Given the description of an element on the screen output the (x, y) to click on. 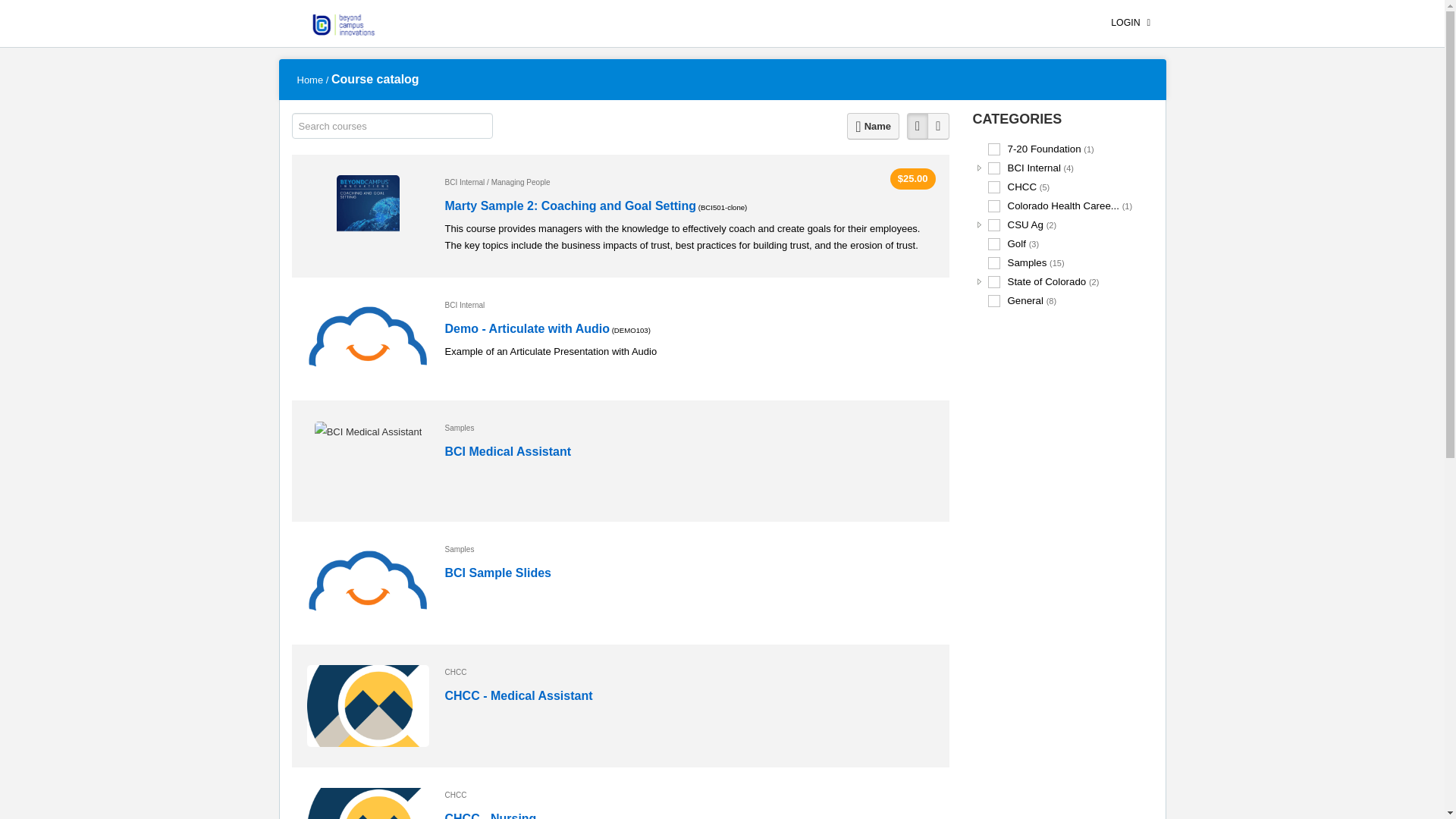
Samples (690, 549)
BCI Sample Slides (497, 573)
BCI Sample Slides (367, 583)
CHCC - Nursing (489, 814)
CHCC - Nursing (489, 815)
BCI Medical Assistant (507, 452)
BCI Medical Assistant (368, 432)
Samples (690, 427)
BCI Medical Assistant (507, 451)
Order (873, 126)
